Given the description of an element on the screen output the (x, y) to click on. 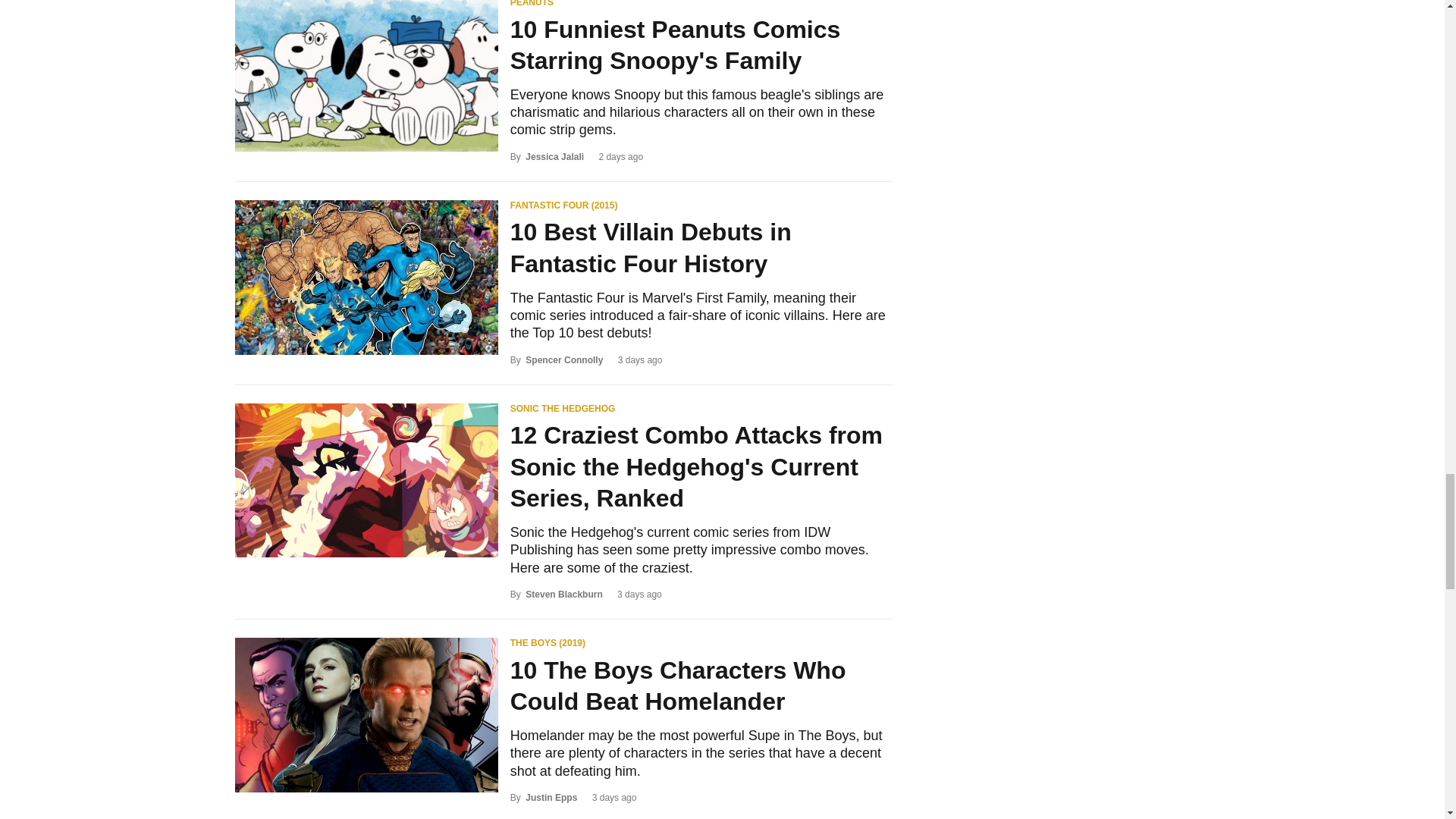
Posts by Steven Blackburn (563, 593)
Posts by Jessica Jalali (554, 156)
Posts by Spencer Connolly (563, 359)
